Given the description of an element on the screen output the (x, y) to click on. 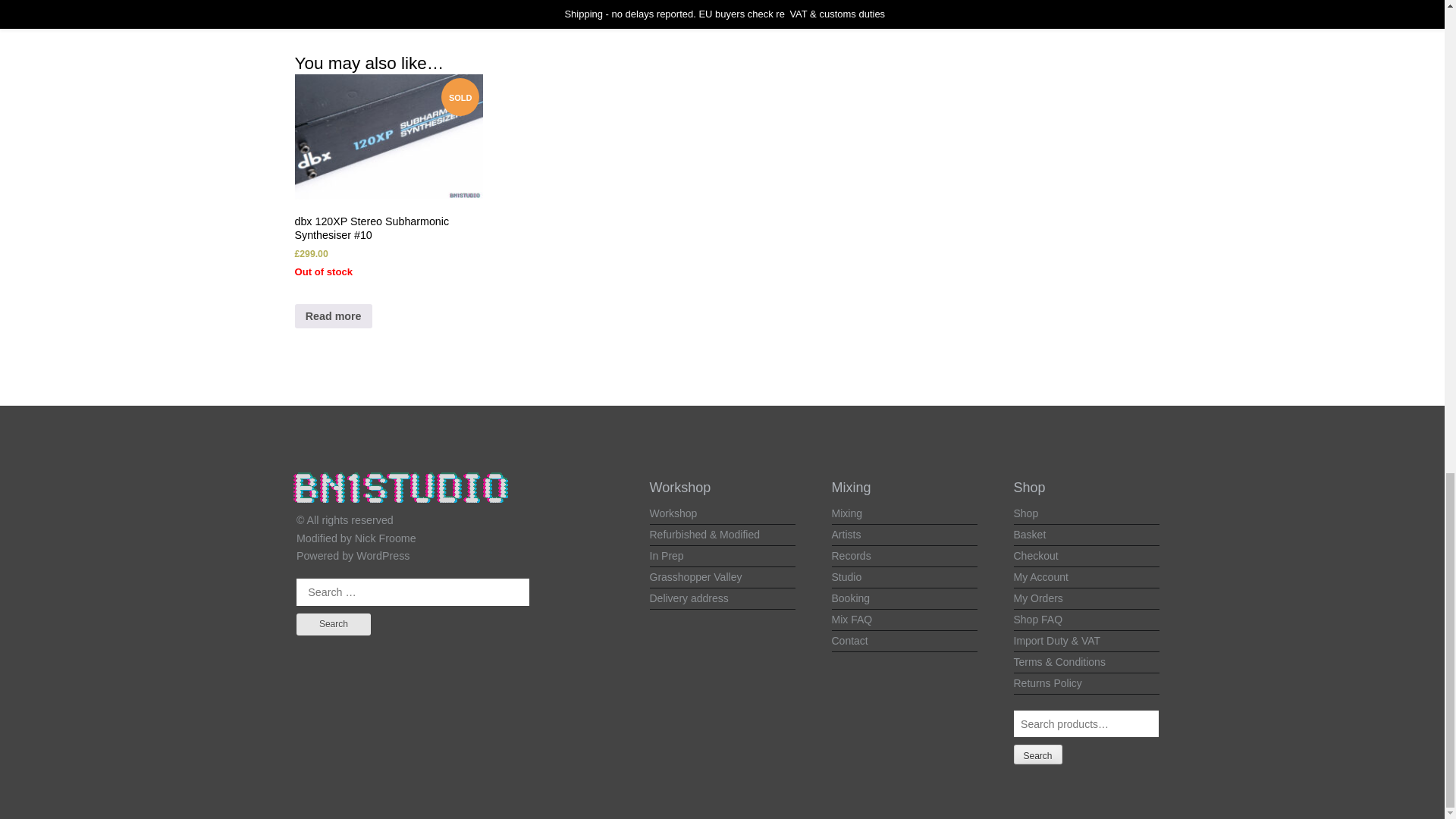
Read more (332, 315)
Search (334, 624)
WordPress (382, 555)
Search (334, 624)
Workshop (673, 512)
Search (334, 624)
